Given the description of an element on the screen output the (x, y) to click on. 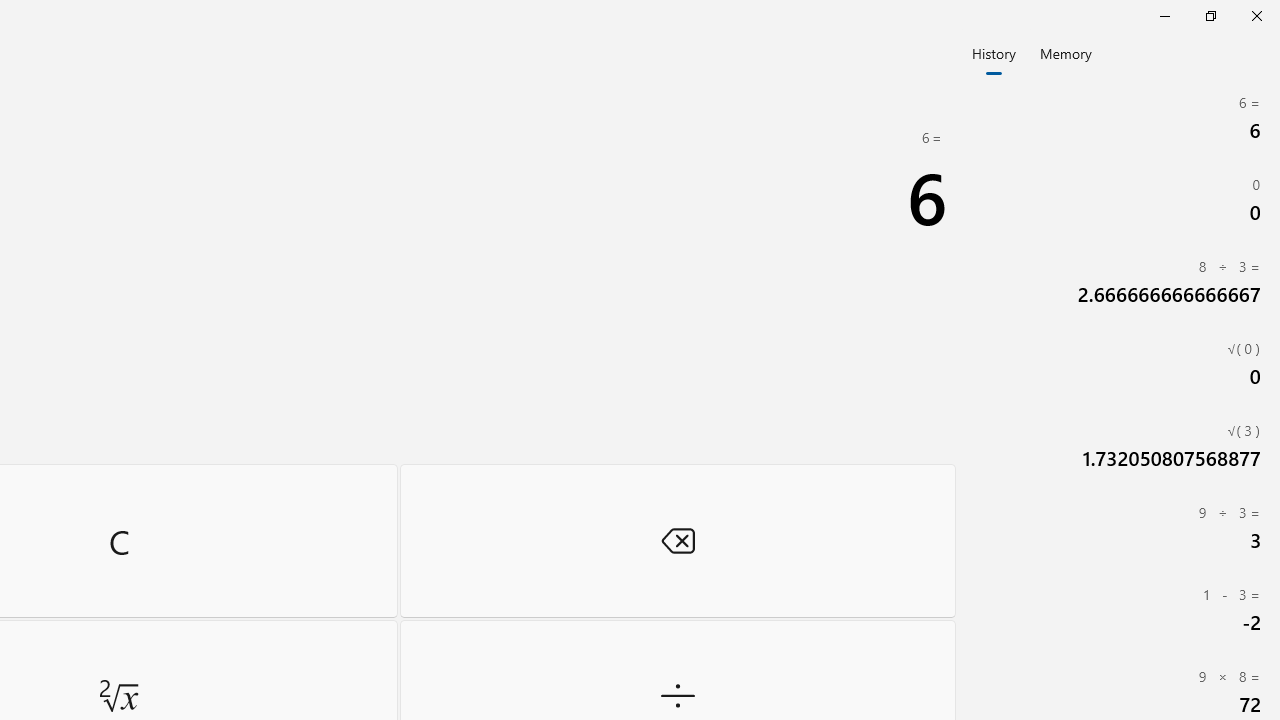
History (993, 52)
1 Minus ( 3= Minus (2 (1119, 609)
Backspace (677, 540)
Close Calculator (1256, 15)
6= 6 (1119, 118)
0 0 (1119, 200)
Minimize Calculator (1164, 15)
Restore Calculator (1210, 15)
